Given the description of an element on the screen output the (x, y) to click on. 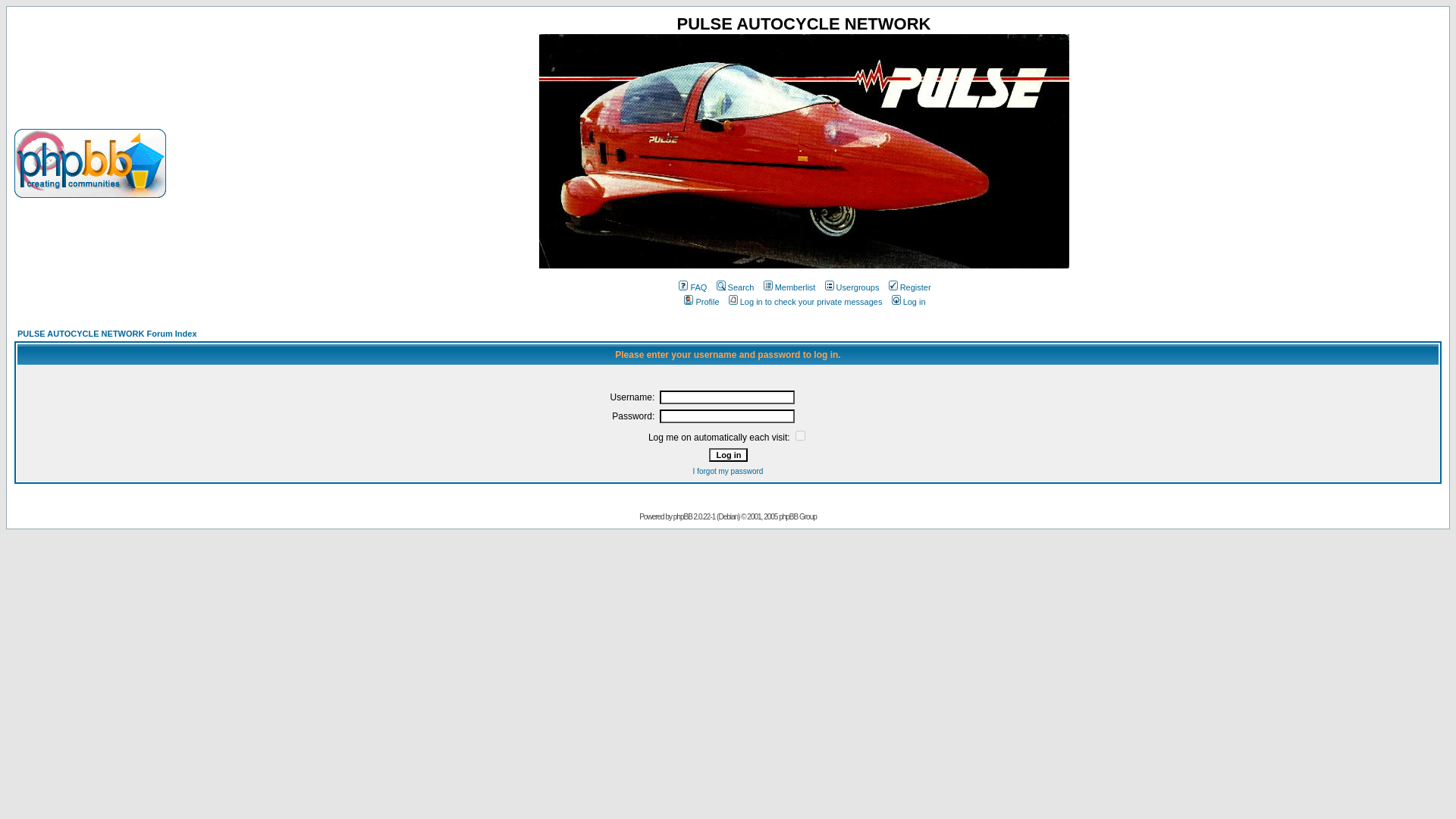
Register (908, 286)
PULSE AUTOCYCLE NETWORK Forum Index (106, 333)
Profile (700, 301)
FAQ (691, 286)
Log in (726, 454)
Memberlist (788, 286)
I forgot my password (727, 470)
Log in (726, 454)
Search (734, 286)
on (799, 435)
Log in to check your private messages (804, 301)
phpBB (682, 516)
Usergroups (850, 286)
Log in (907, 301)
